Given the description of an element on the screen output the (x, y) to click on. 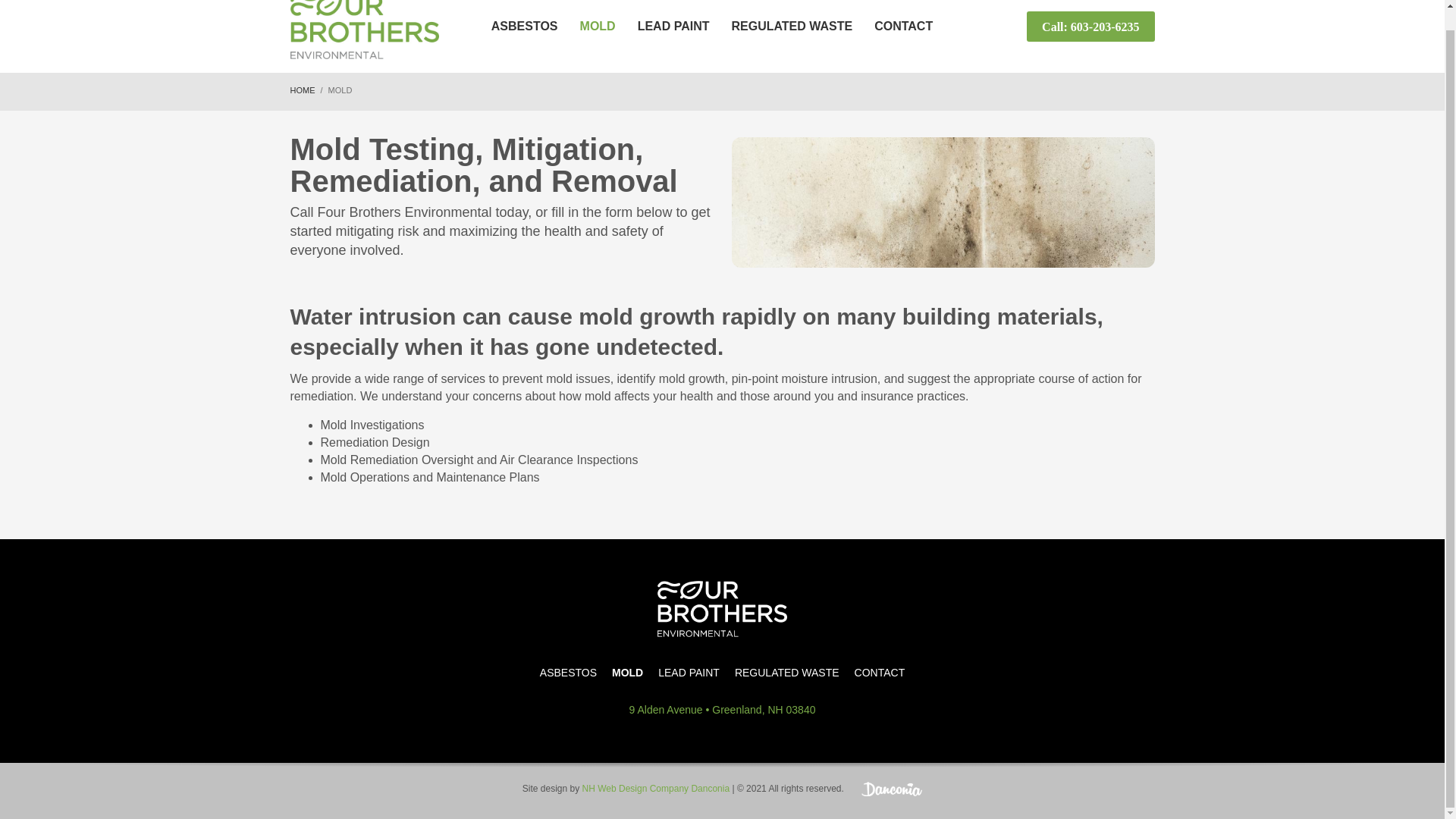
MOLD (627, 672)
NH Web Design Company Danconia (656, 787)
Call: 603-203-6235 (1090, 25)
HOME (301, 90)
ASBESTOSMOLDLEAD PAINTREGULATED WASTECONTACT (721, 671)
ASBESTOS (568, 672)
MOLD (597, 26)
CONTACT (879, 672)
CONTACT (903, 26)
LEAD PAINT (673, 26)
